Given the description of an element on the screen output the (x, y) to click on. 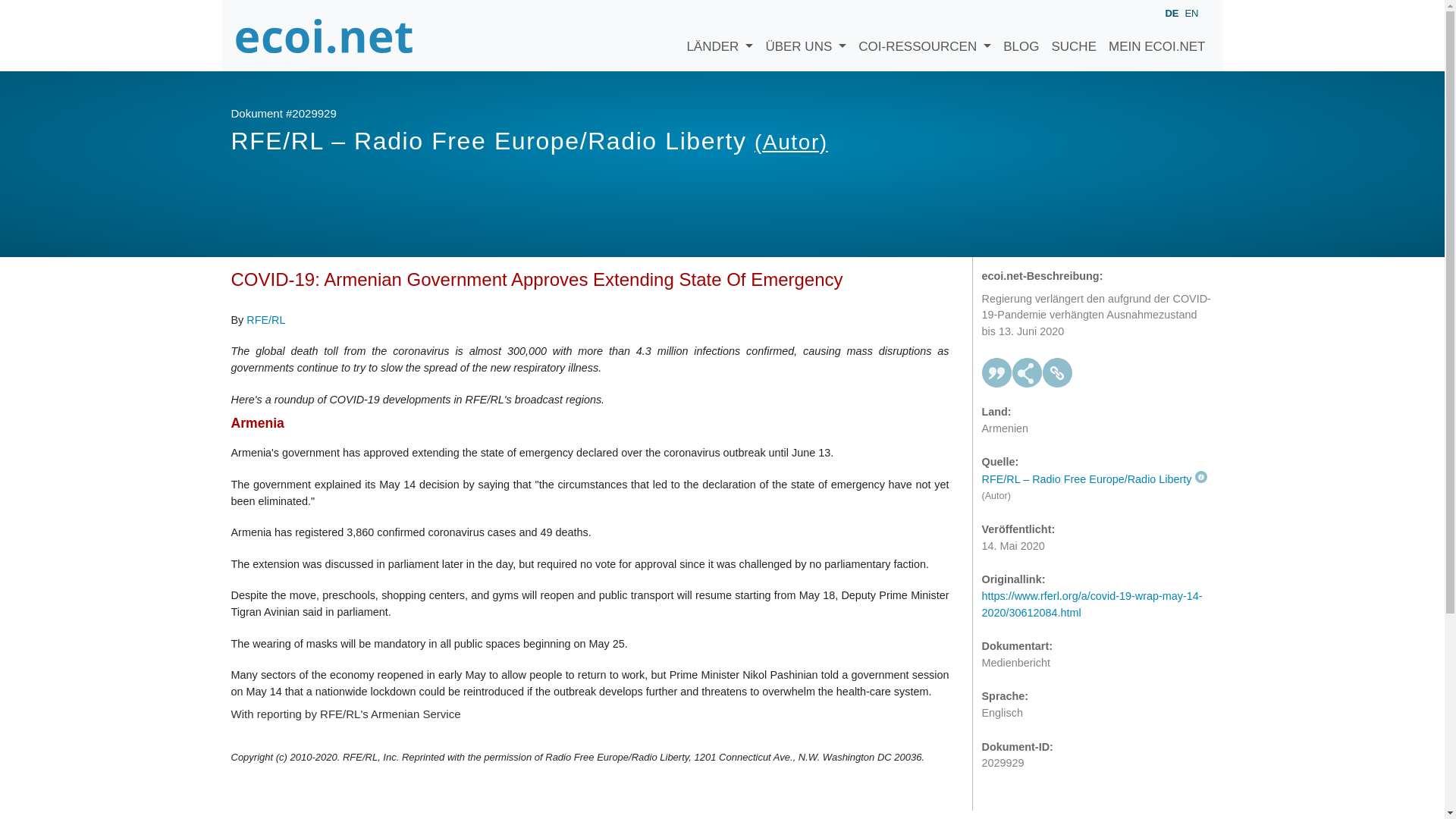
EN (1190, 12)
Teilen (1026, 372)
Zitieren als (996, 372)
Quellenbeschreibung lesen (1094, 479)
Permalink (1056, 372)
Zur Startseite von ecoi.net gehen (323, 35)
MEIN ECOI.NET (1156, 35)
Englisch (1190, 12)
Deutsch (1170, 13)
COI-RESSOURCEN (924, 35)
